Given the description of an element on the screen output the (x, y) to click on. 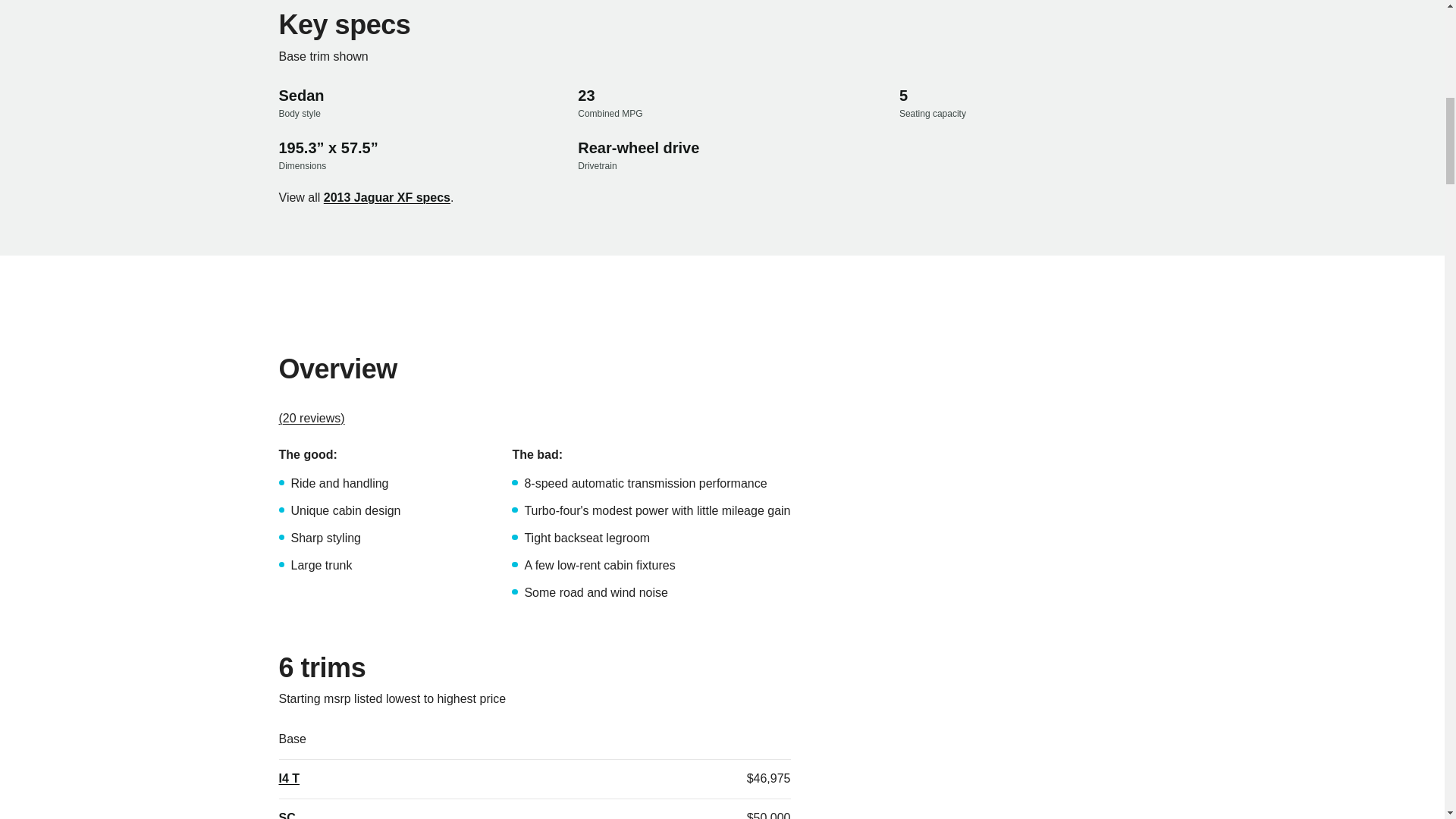
SC (287, 814)
2013 Jaguar XF specs (386, 198)
I4 T (289, 778)
